Given the description of an element on the screen output the (x, y) to click on. 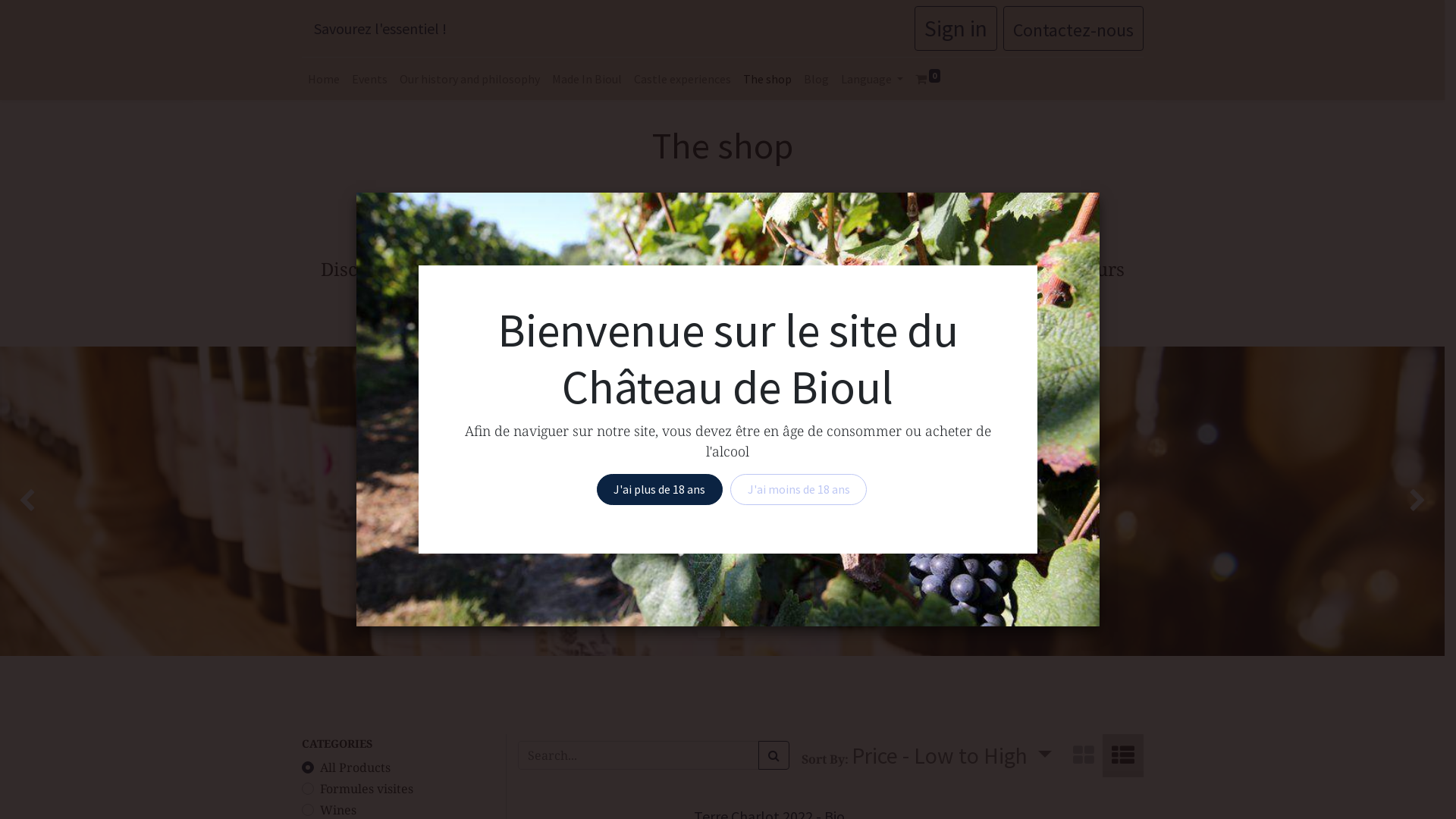
Blog Element type: text (815, 78)
J'ai moins de 18 ans Element type: text (798, 488)
Our history and philosophy Element type: text (468, 78)
The shop Element type: text (767, 78)
0 Element type: text (928, 78)
Suivant Element type: text (1386, 500)
Search Element type: hover (773, 754)
Events Element type: text (369, 78)
Castle experiences Element type: text (682, 78)
Price - Low to High Element type: text (951, 755)
J'ai plus de 18 ans Element type: text (659, 488)
Contactez-nous Element type: text (1072, 28)
Made In Bioul Element type: text (586, 78)
Sign in Element type: text (955, 28)
Home Element type: text (323, 78)
List Element type: hover (1122, 755)
Grid Element type: hover (1082, 755)
Language Element type: text (871, 78)
